Given the description of an element on the screen output the (x, y) to click on. 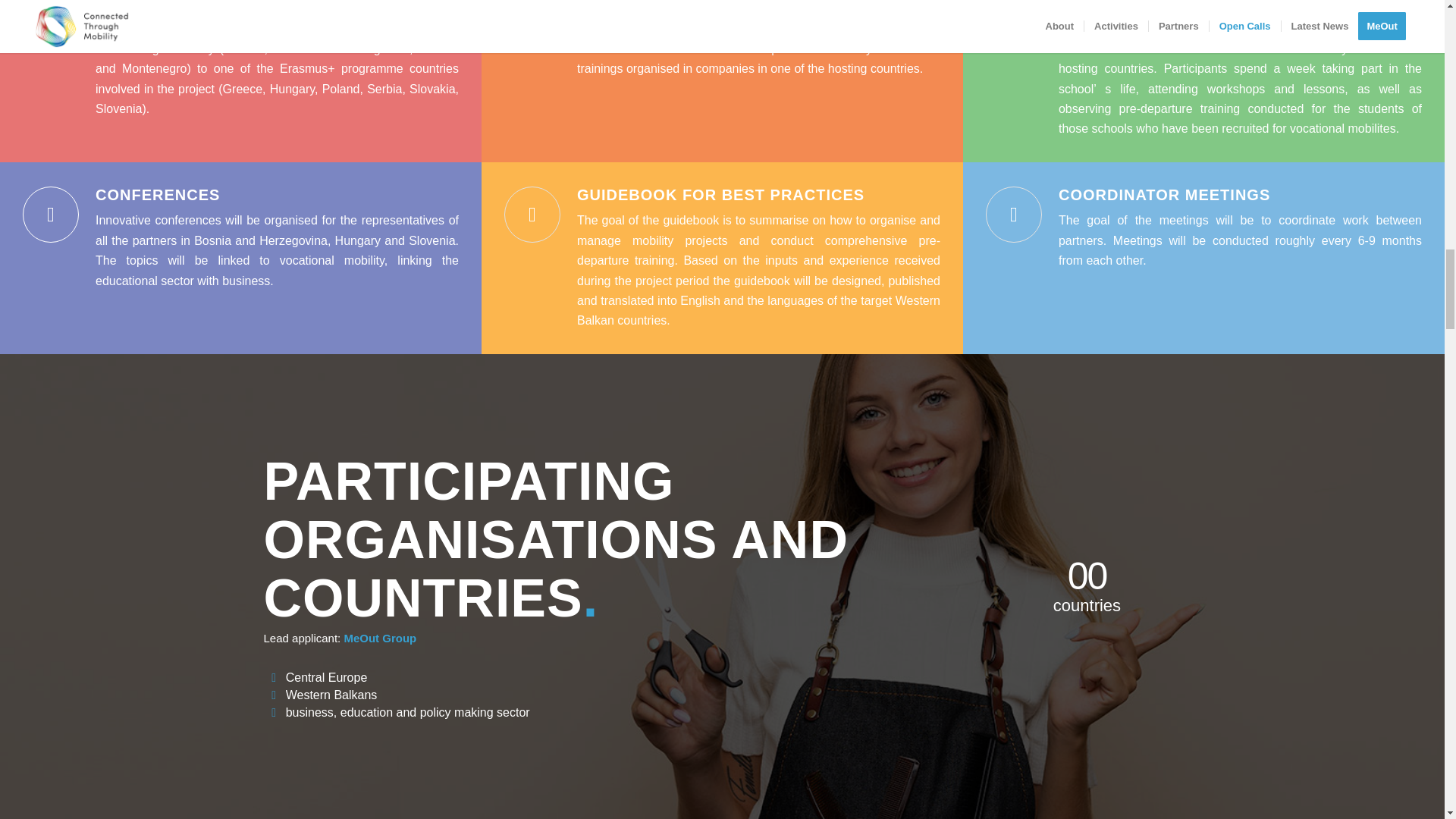
Long term mobilities (675, 5)
Coordinator meetings (1163, 194)
COORDINATOR MEETINGS (1163, 194)
Guidebook for best practices (720, 194)
JOB SHADOWING MOBILITIES (1178, 5)
Job shadowing mobilities (1178, 5)
GUIDEBOOK FOR BEST PRACTICES (720, 194)
Short term mobilities (199, 5)
LONG TERM MOBILITIES (675, 5)
CONFERENCES (157, 194)
SHORT TERM MOBILITIES (199, 5)
Conferences (157, 194)
